Given the description of an element on the screen output the (x, y) to click on. 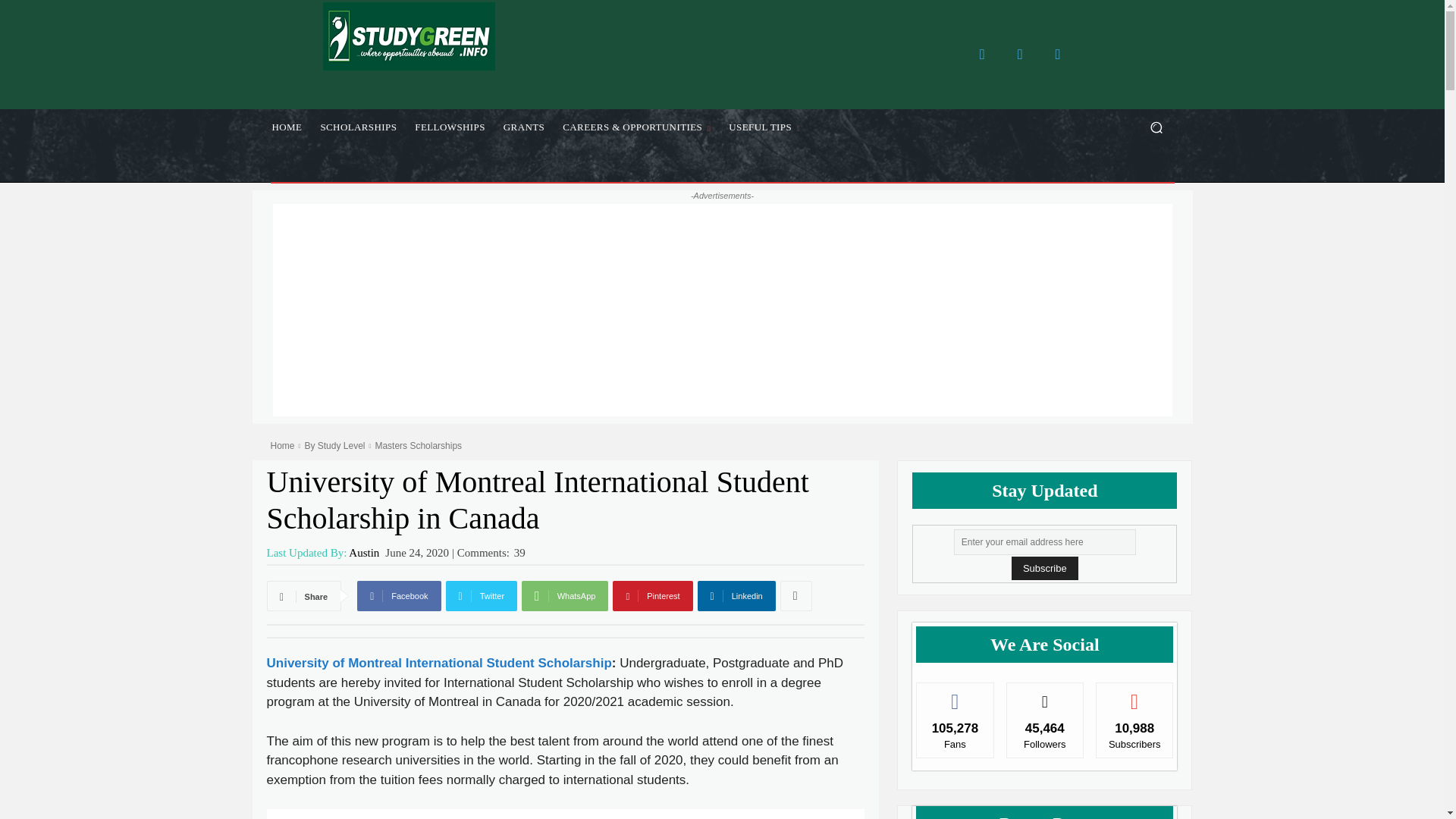
Masters Scholarships (417, 445)
HOME (286, 126)
USEFUL TIPS (764, 126)
Where opportunities abound... (408, 36)
GRANTS (524, 126)
Facebook (981, 54)
By Study Level (334, 445)
Facebook (398, 595)
Home (281, 445)
Subscribe (1044, 567)
WhatsApp (564, 595)
View all posts in Masters Scholarships (417, 445)
Where opportunities abound... (409, 36)
View all posts in By Study Level (334, 445)
Pinterest (652, 595)
